Given the description of an element on the screen output the (x, y) to click on. 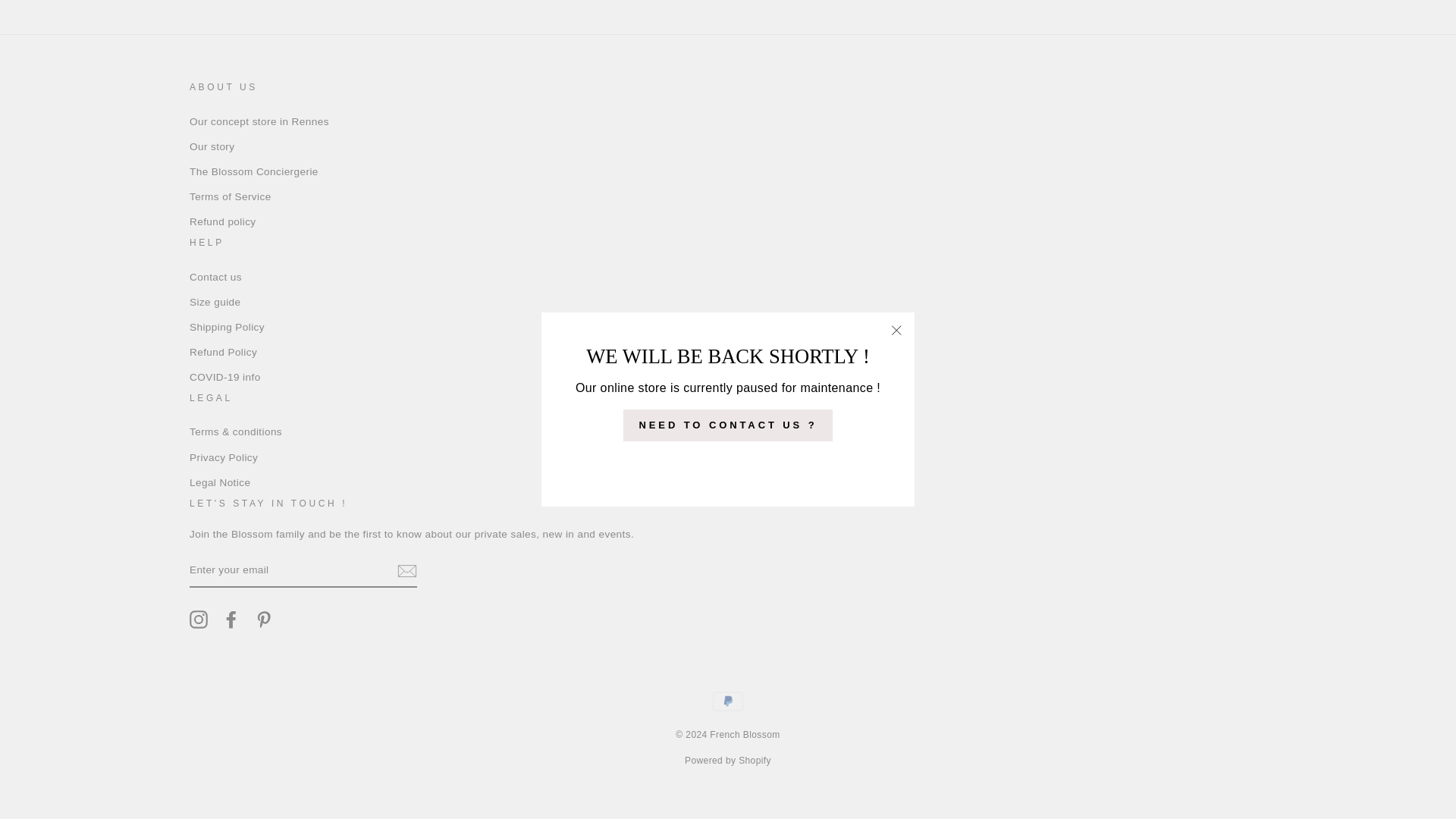
PayPal (727, 701)
